Given the description of an element on the screen output the (x, y) to click on. 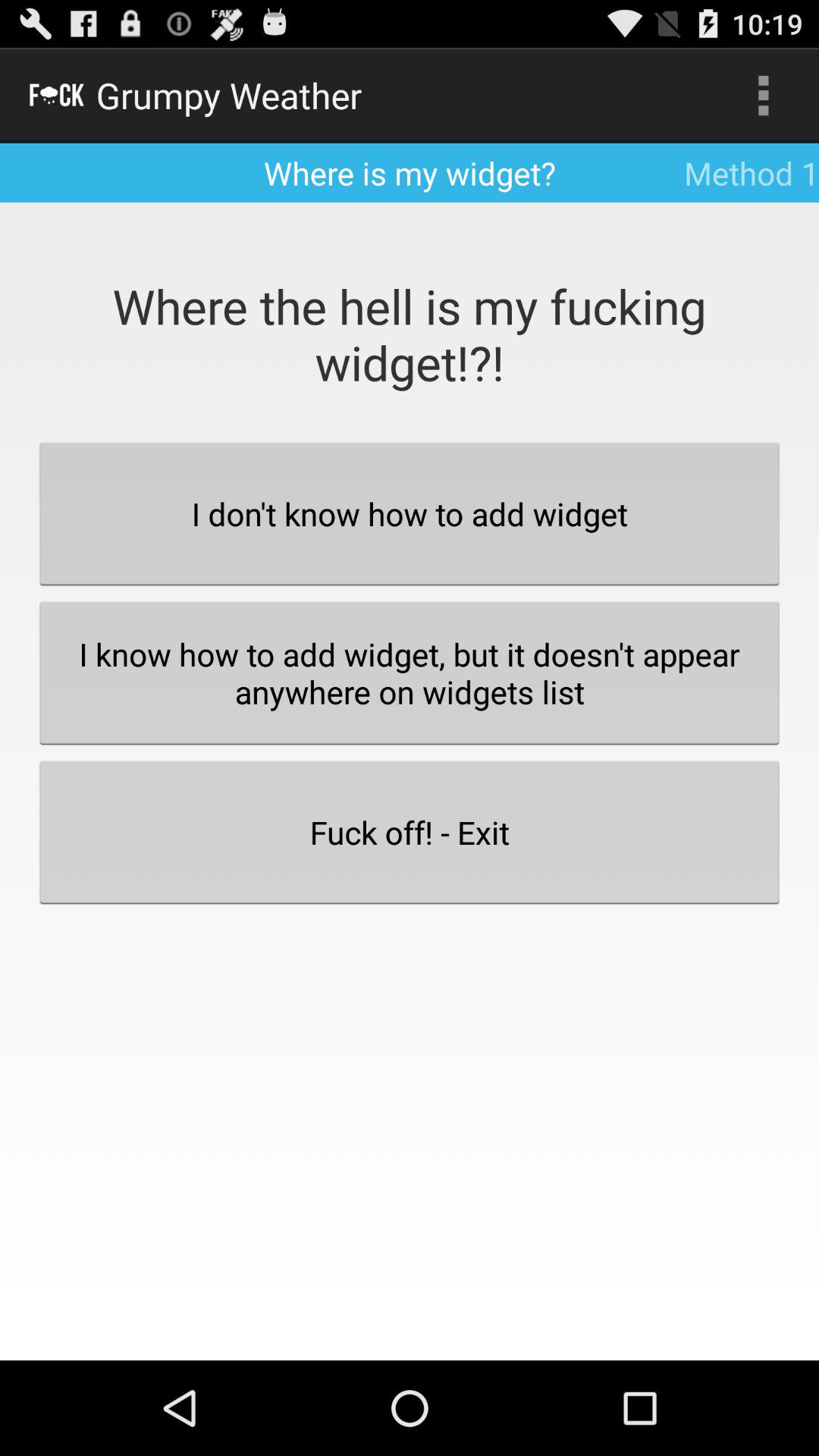
choose item above the method 1 item (763, 95)
